Given the description of an element on the screen output the (x, y) to click on. 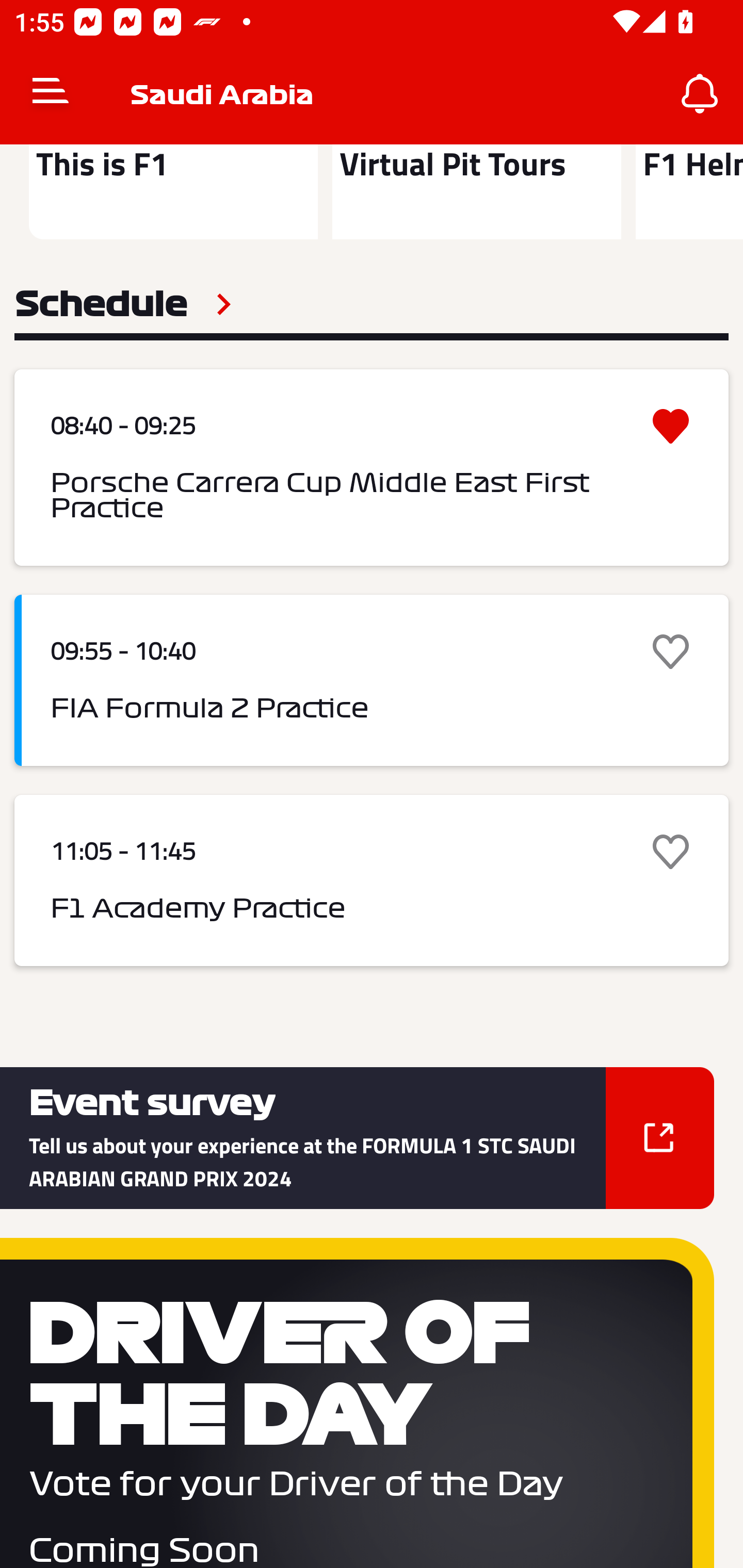
Navigate up (50, 93)
Notifications (699, 93)
This is F1 (173, 191)
Virtual Pit Tours (476, 191)
Schedule (122, 304)
09:55 - 10:40 FIA Formula 2 Practice (371, 679)
11:05 - 11:45 F1 Academy Practice (371, 879)
